Given the description of an element on the screen output the (x, y) to click on. 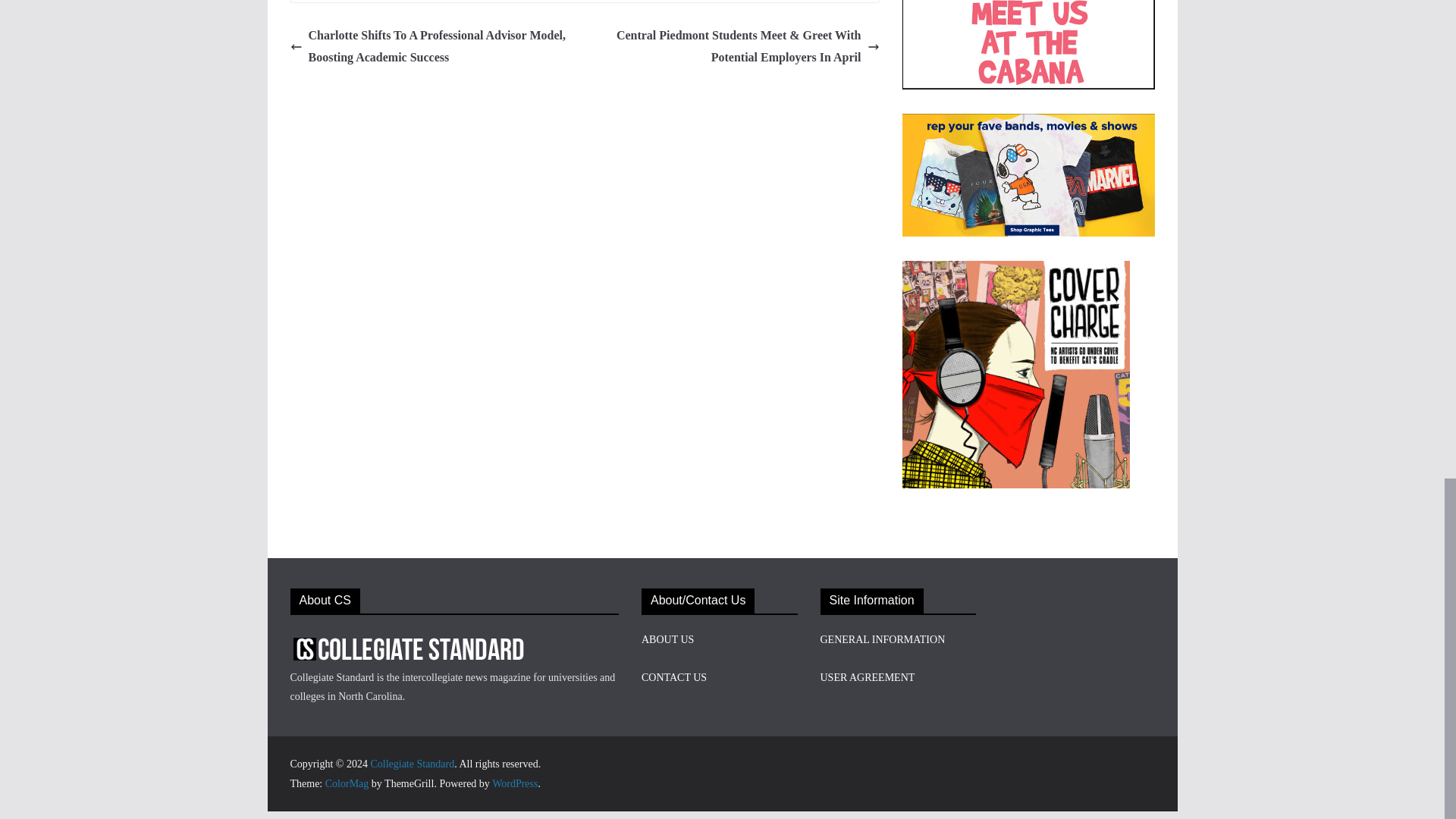
GENERAL INFORMATION (882, 639)
Collegiate Standard (411, 763)
ColorMag (346, 783)
USER AGREEMENT (868, 677)
ColorMag (346, 783)
CONTACT US (674, 677)
Collegiate Standard (411, 763)
WordPress (514, 783)
WordPress (514, 783)
ABOUT US (668, 639)
